Given the description of an element on the screen output the (x, y) to click on. 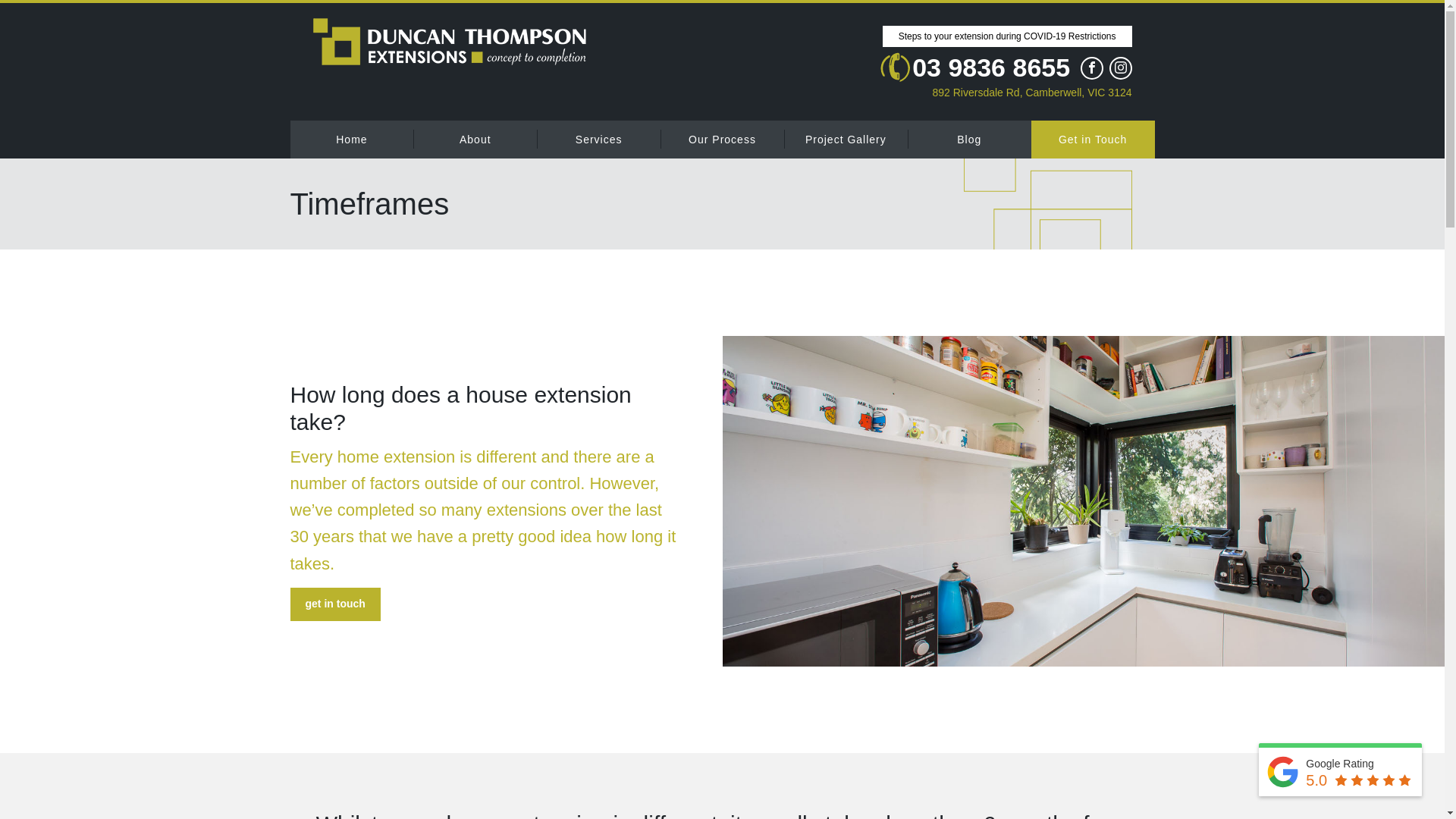
Services Element type: text (598, 138)
Duncan Thompson Extensions Element type: text (448, 41)
Project Gallery Element type: text (845, 138)
Home Element type: text (351, 138)
About Element type: text (474, 138)
Our Process Element type: text (722, 138)
03 9836 8655 Element type: text (974, 67)
892 Riversdale Rd, Camberwell, VIC 3124 Element type: text (1004, 91)
get in touch Element type: text (334, 604)
Get in Touch Element type: text (1092, 138)
Blog Element type: text (969, 138)
Steps to your extension during COVID-19 Restrictions Element type: text (1007, 36)
